Given the description of an element on the screen output the (x, y) to click on. 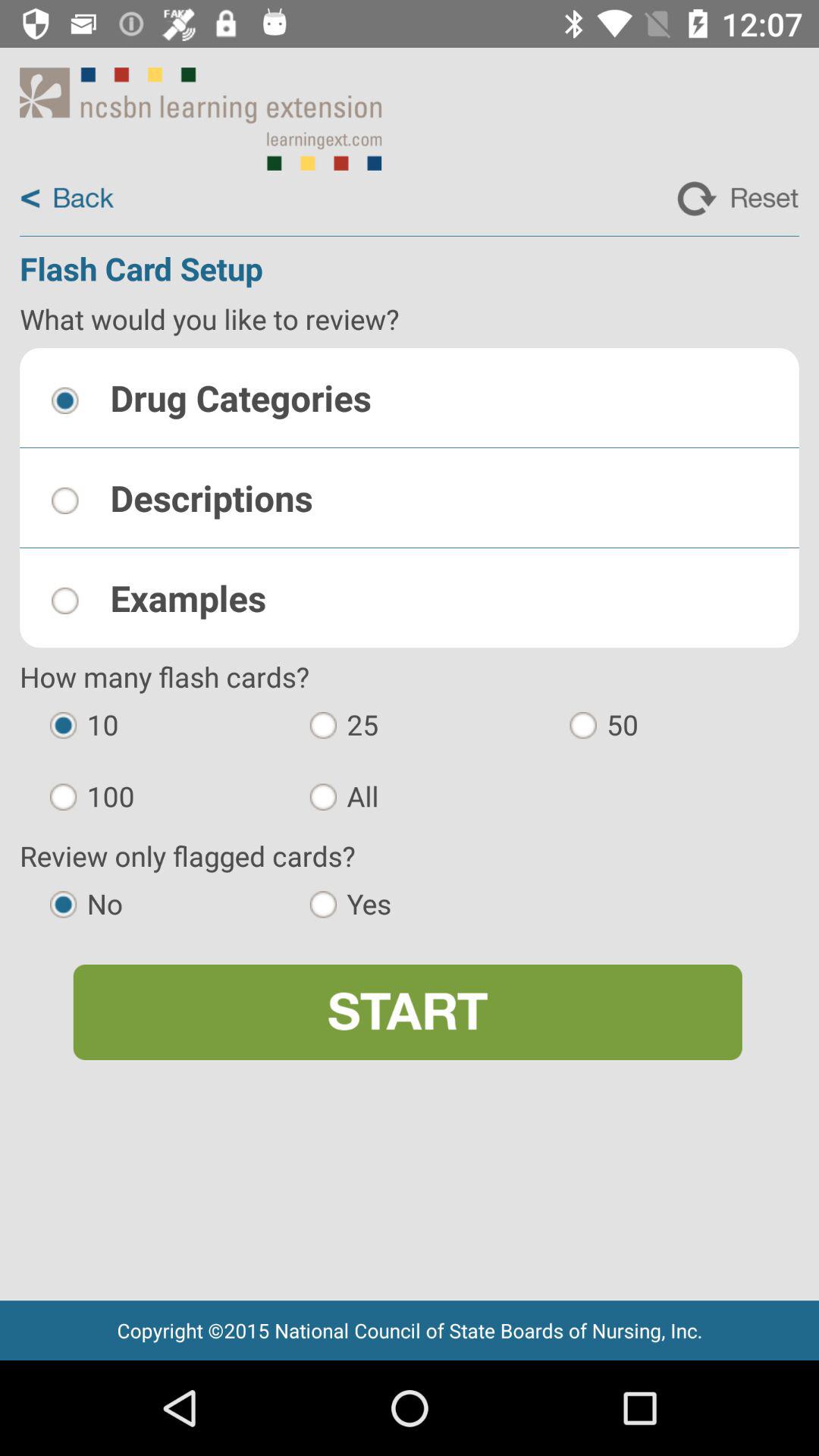
go to the previous (66, 198)
